Given the description of an element on the screen output the (x, y) to click on. 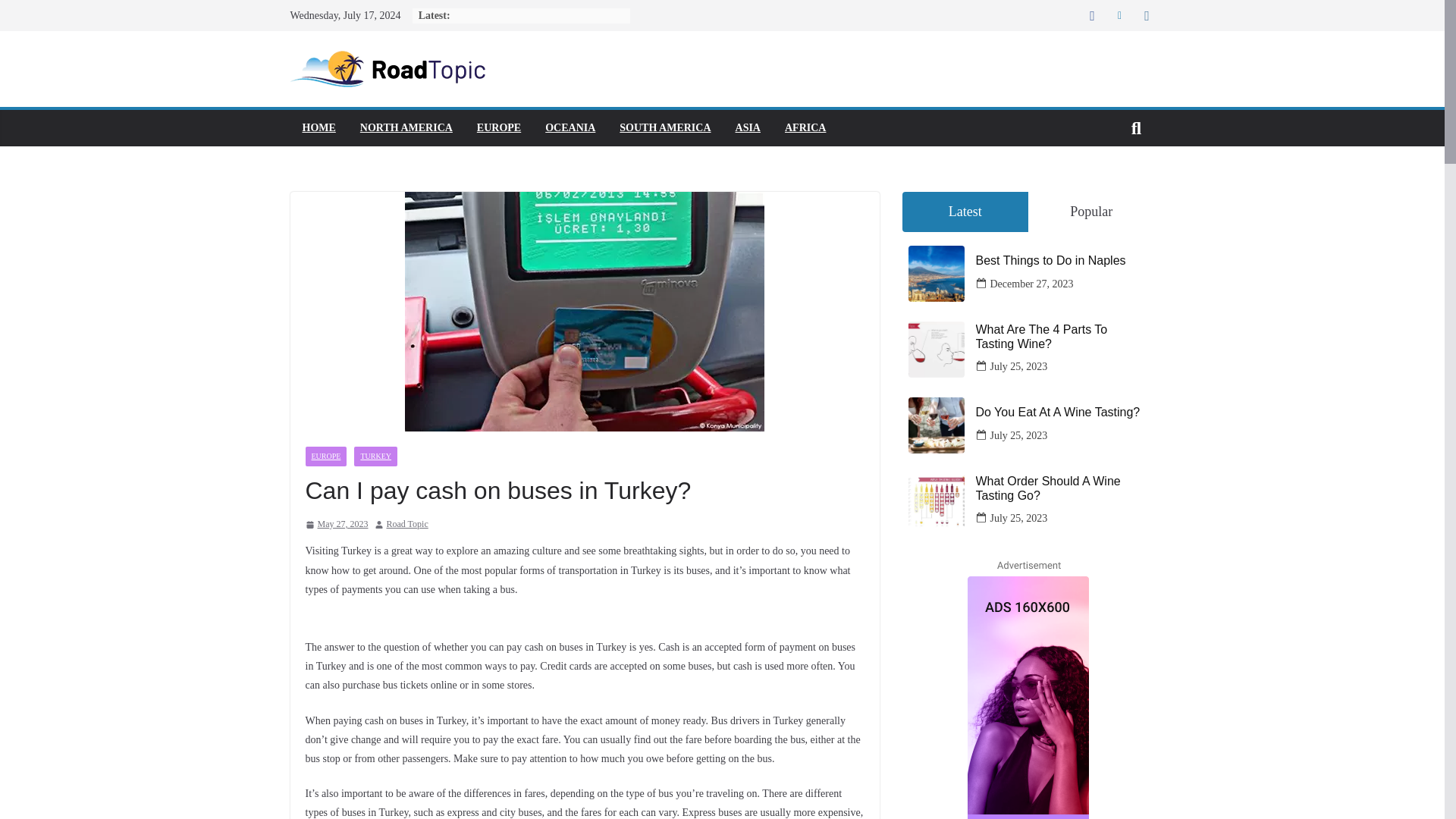
AFRICA (804, 127)
OCEANIA (569, 127)
July 25, 2023 (1019, 517)
HOME (317, 127)
Do You Eat At A Wine Tasting? (1061, 411)
NORTH AMERICA (405, 127)
May 27, 2023 (336, 524)
Road Topic (407, 524)
2:10 pm (336, 524)
TURKEY (375, 456)
What Are The 4 Parts To Tasting Wine? (1061, 336)
July 25, 2023 (1019, 435)
EUROPE (499, 127)
July 25, 2023 (1019, 366)
What Order Should A Wine Tasting Go? (1061, 488)
